Given the description of an element on the screen output the (x, y) to click on. 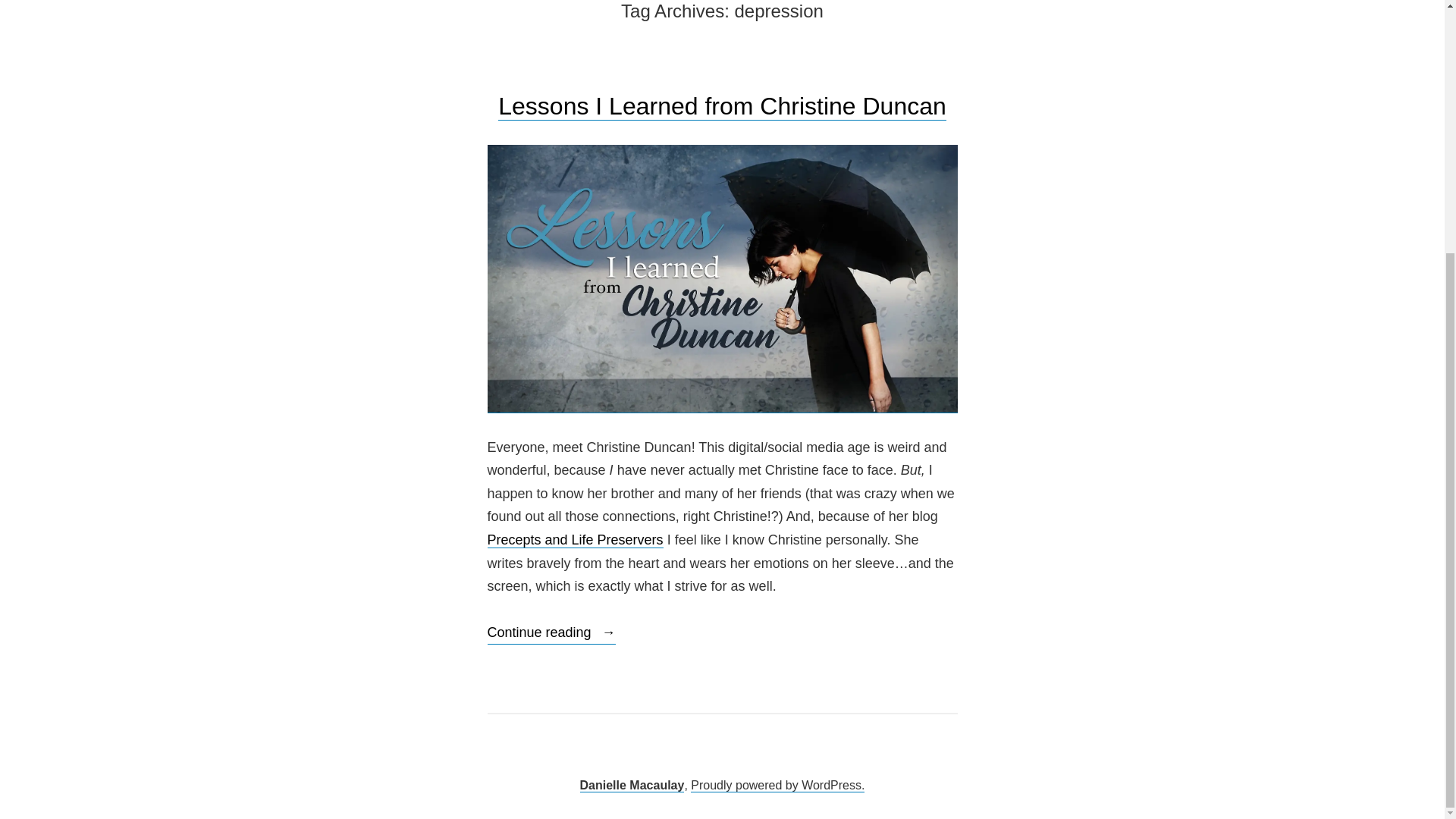
Lessons I Learned from Christine Duncan (721, 106)
Danielle Macaulay (631, 785)
Proudly powered by WordPress. (777, 785)
Precepts and Life Preservers (574, 539)
